Given the description of an element on the screen output the (x, y) to click on. 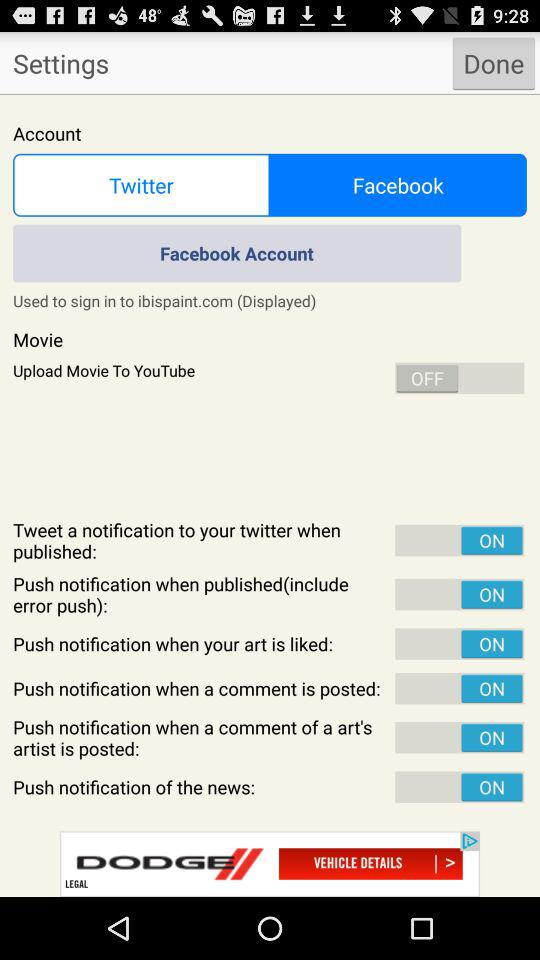
change settings (270, 495)
